Given the description of an element on the screen output the (x, y) to click on. 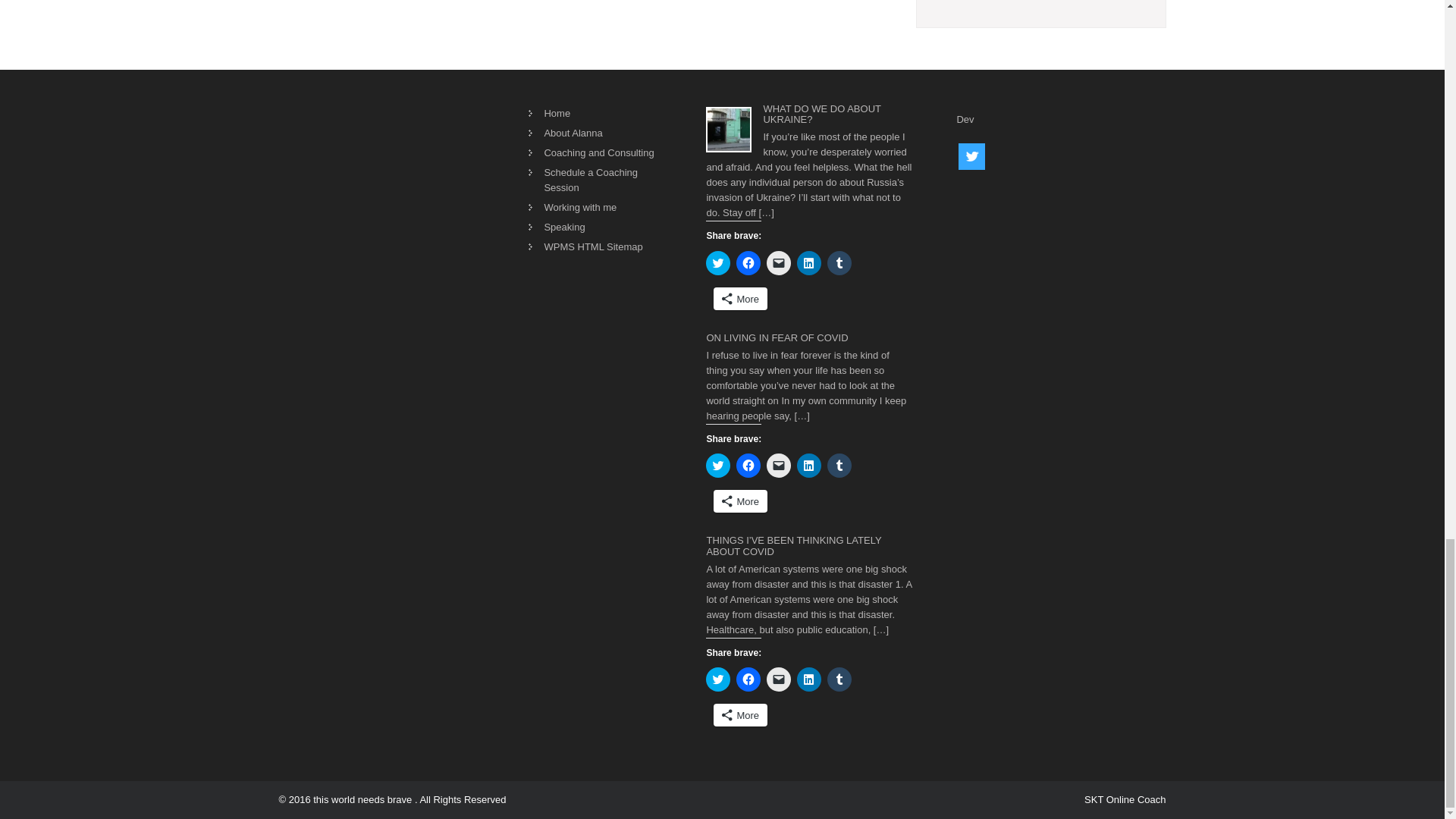
Click to share on Facebook (748, 262)
Click to share on Twitter (718, 262)
Click to share on LinkedIn (808, 262)
Click to share on Tumblr (839, 262)
Click to email a link to a friend (778, 262)
